Given the description of an element on the screen output the (x, y) to click on. 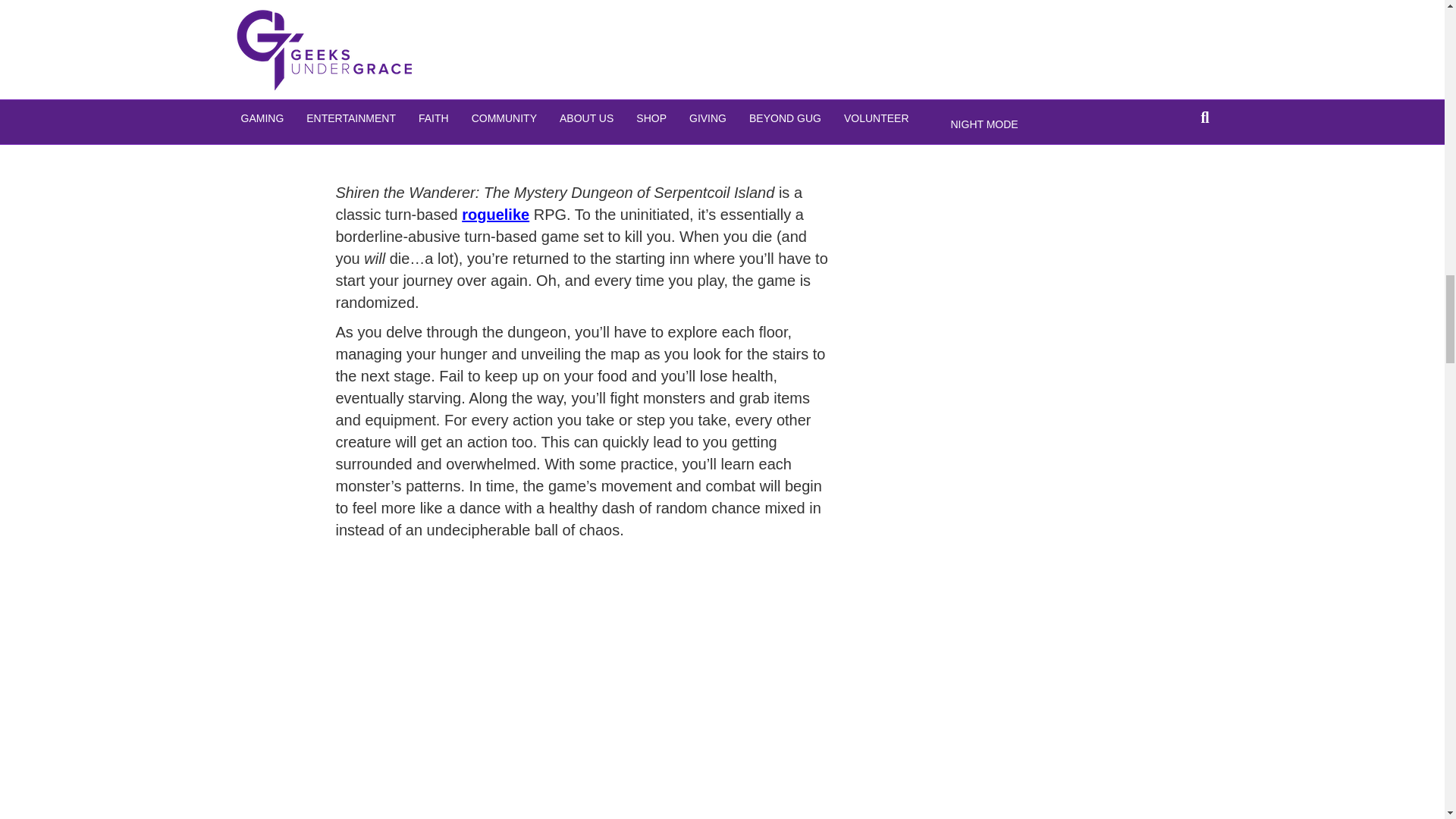
roguelike (495, 214)
